Given the description of an element on the screen output the (x, y) to click on. 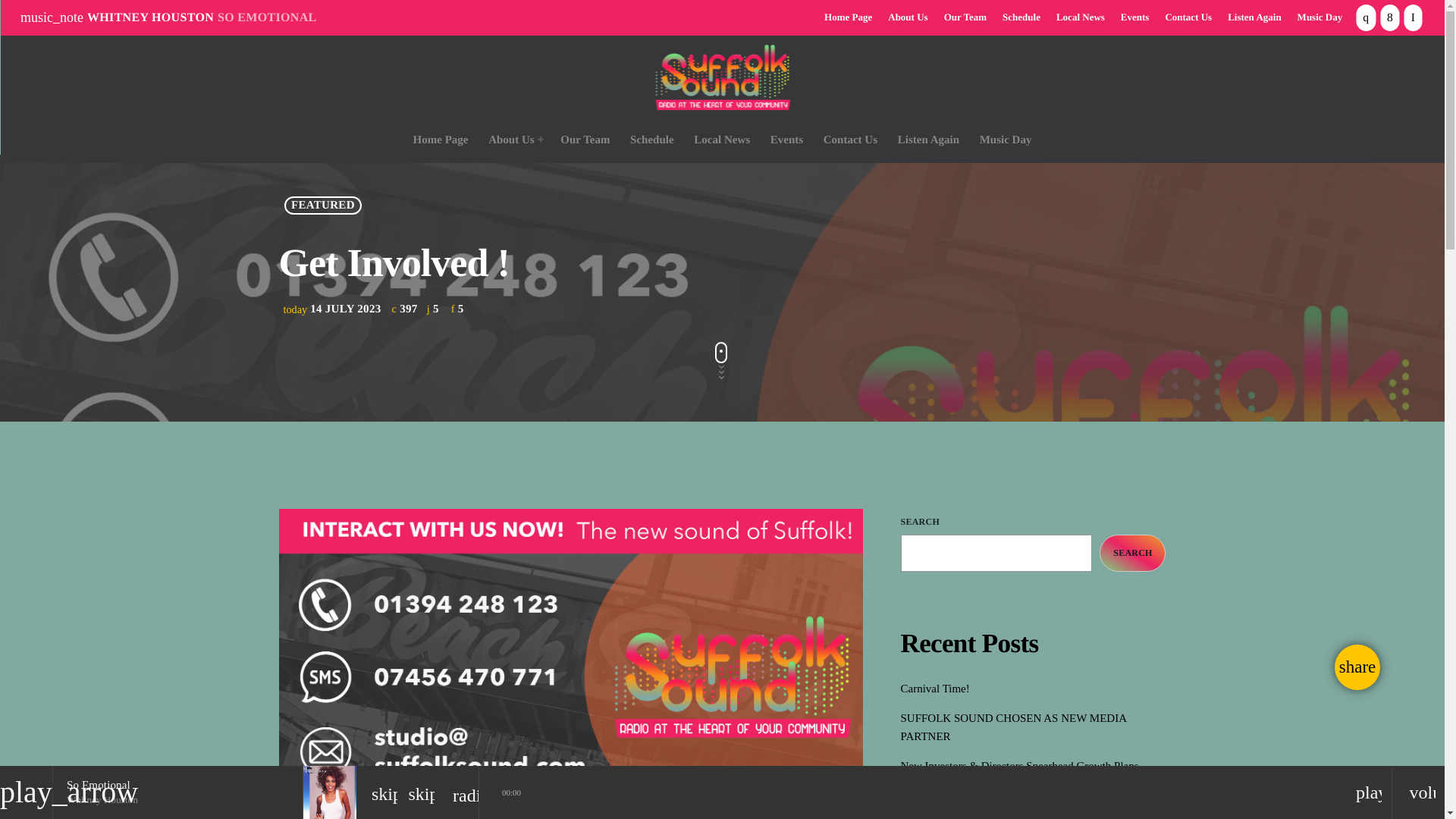
Music Day (1005, 140)
Listen Again (927, 140)
About Us (514, 140)
Music Day (1320, 17)
Schedule (651, 140)
Our Team (584, 140)
About Us (907, 17)
Contact Us (849, 140)
Schedule (1021, 17)
Home Page (848, 17)
Local News (1080, 17)
Listen Again (1253, 17)
Home Page (440, 140)
Contact Us (1187, 17)
Events (786, 140)
